Given the description of an element on the screen output the (x, y) to click on. 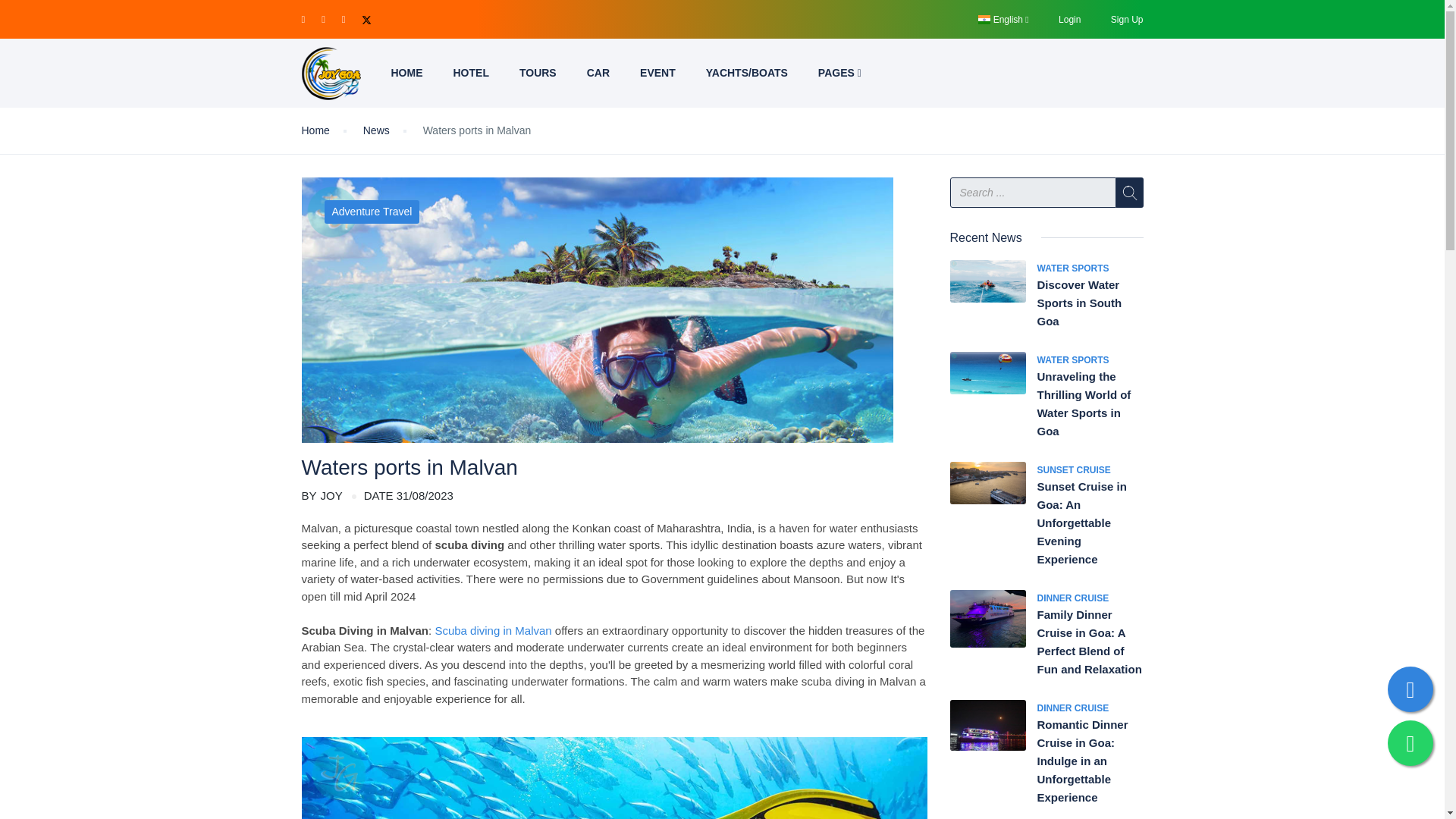
Adventure Travel (372, 211)
Login (1069, 18)
CAR (598, 72)
PAGES (839, 72)
Home (315, 130)
TOURS (537, 72)
English (1002, 18)
EVENT (657, 72)
HOTEL (470, 72)
Scuba diving in Malvan (492, 630)
HOME (406, 72)
Sign Up (1126, 18)
News (376, 130)
